Given the description of an element on the screen output the (x, y) to click on. 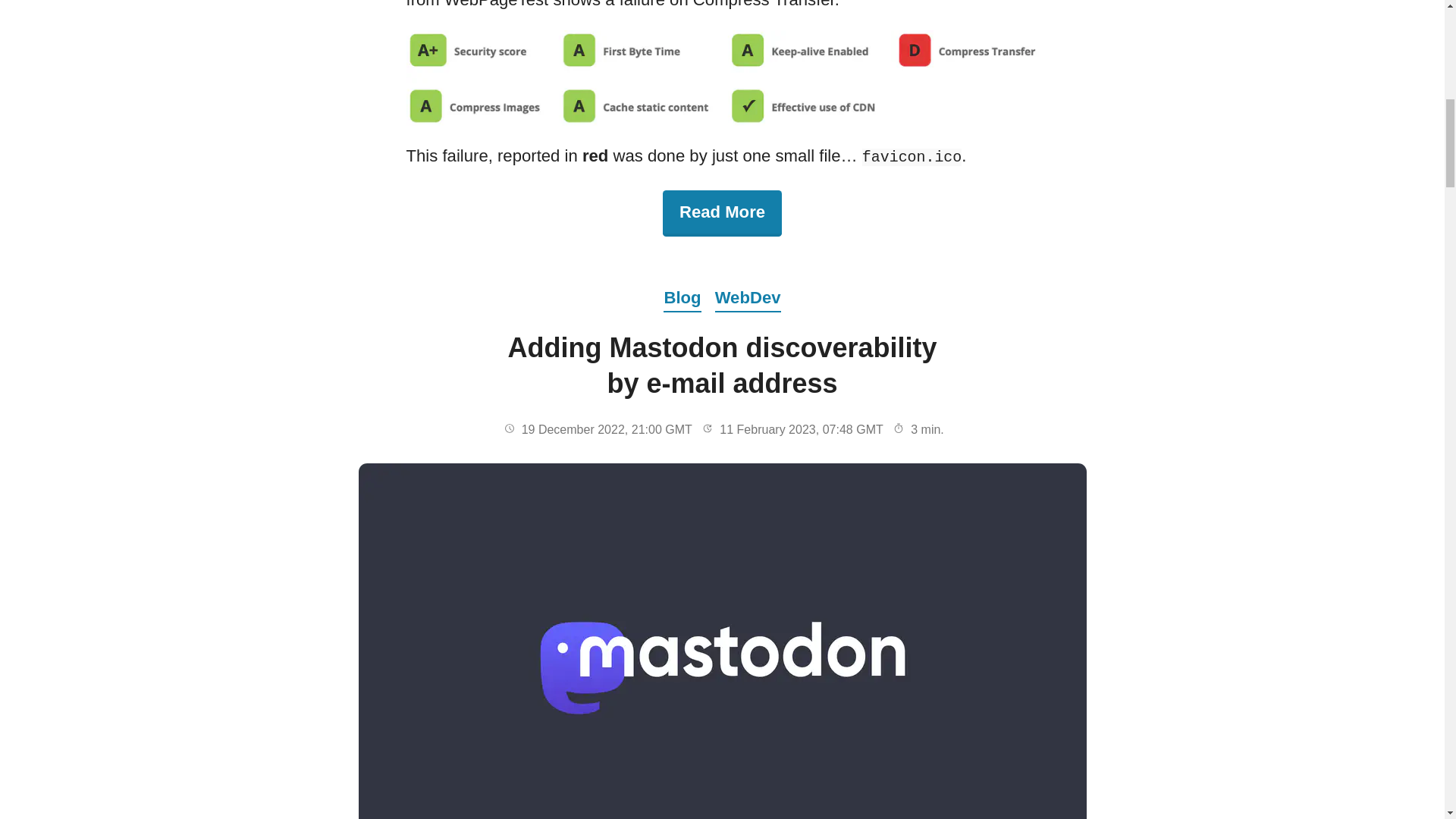
Updated (721, 213)
Adding Mastodon discoverability by e-mail address (707, 428)
WebDev (721, 365)
